Given the description of an element on the screen output the (x, y) to click on. 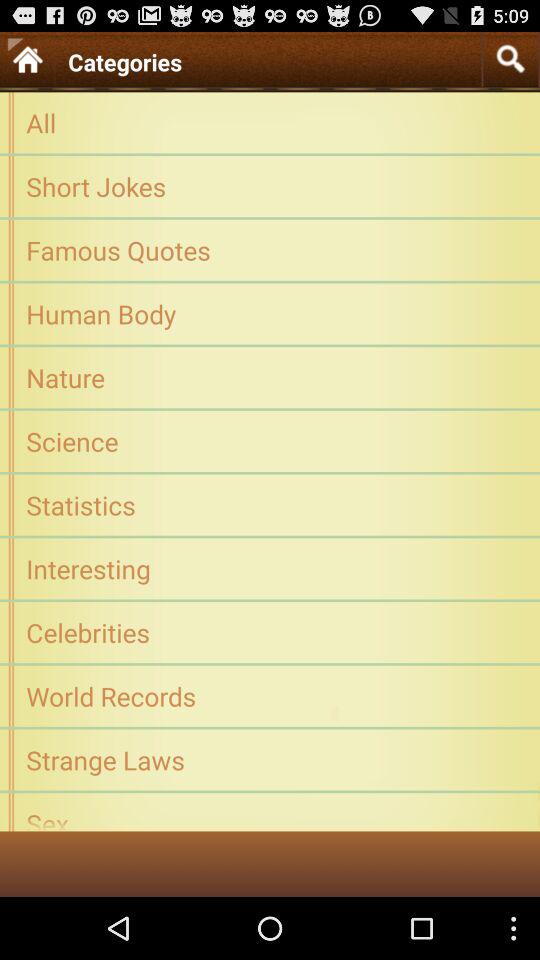
choose the app above statistics (270, 440)
